Given the description of an element on the screen output the (x, y) to click on. 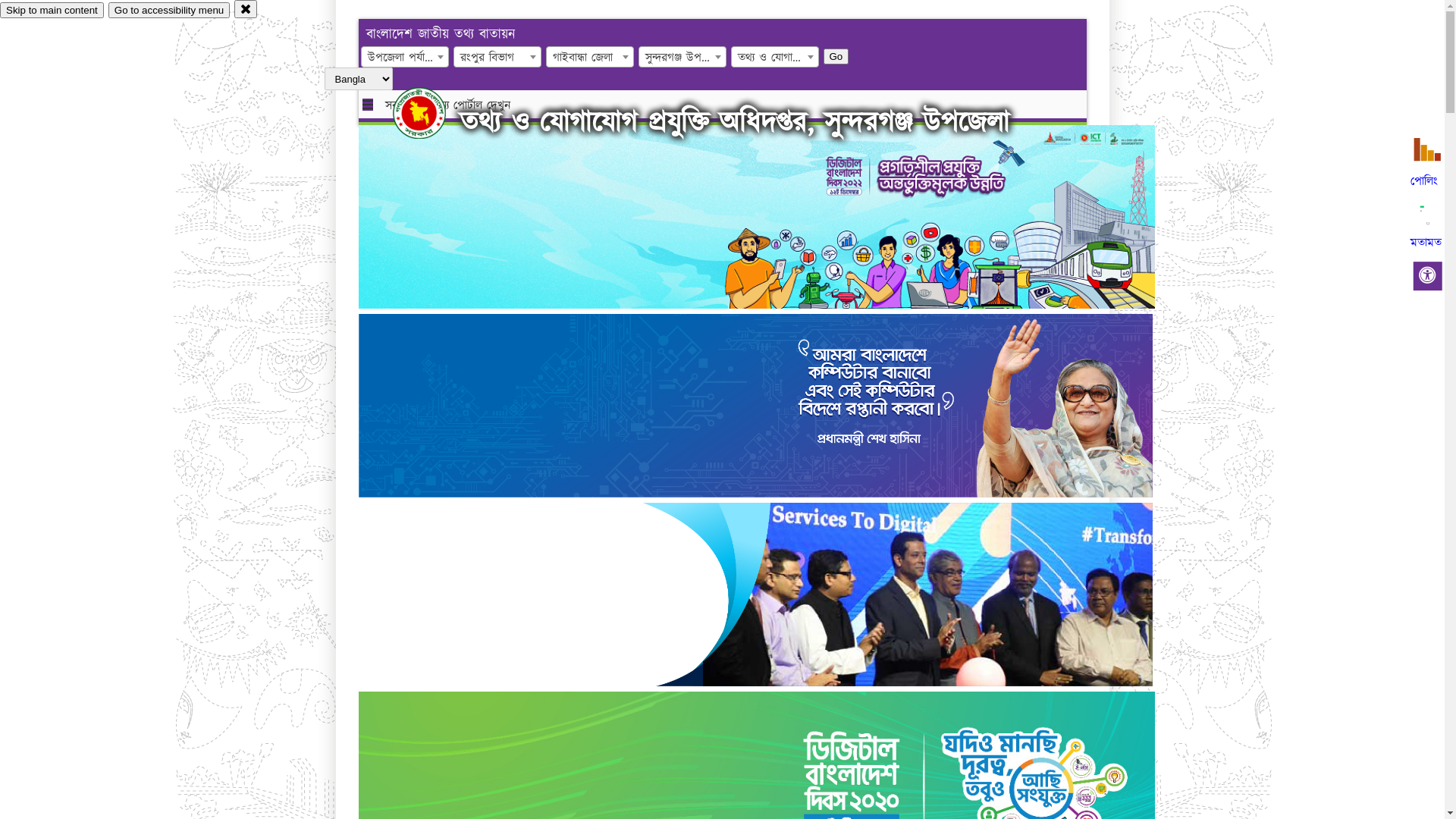
Go to accessibility menu Element type: text (168, 10)

                
             Element type: hover (431, 112)
Go Element type: text (836, 56)
close Element type: hover (245, 9)
Skip to main content Element type: text (51, 10)
